Given the description of an element on the screen output the (x, y) to click on. 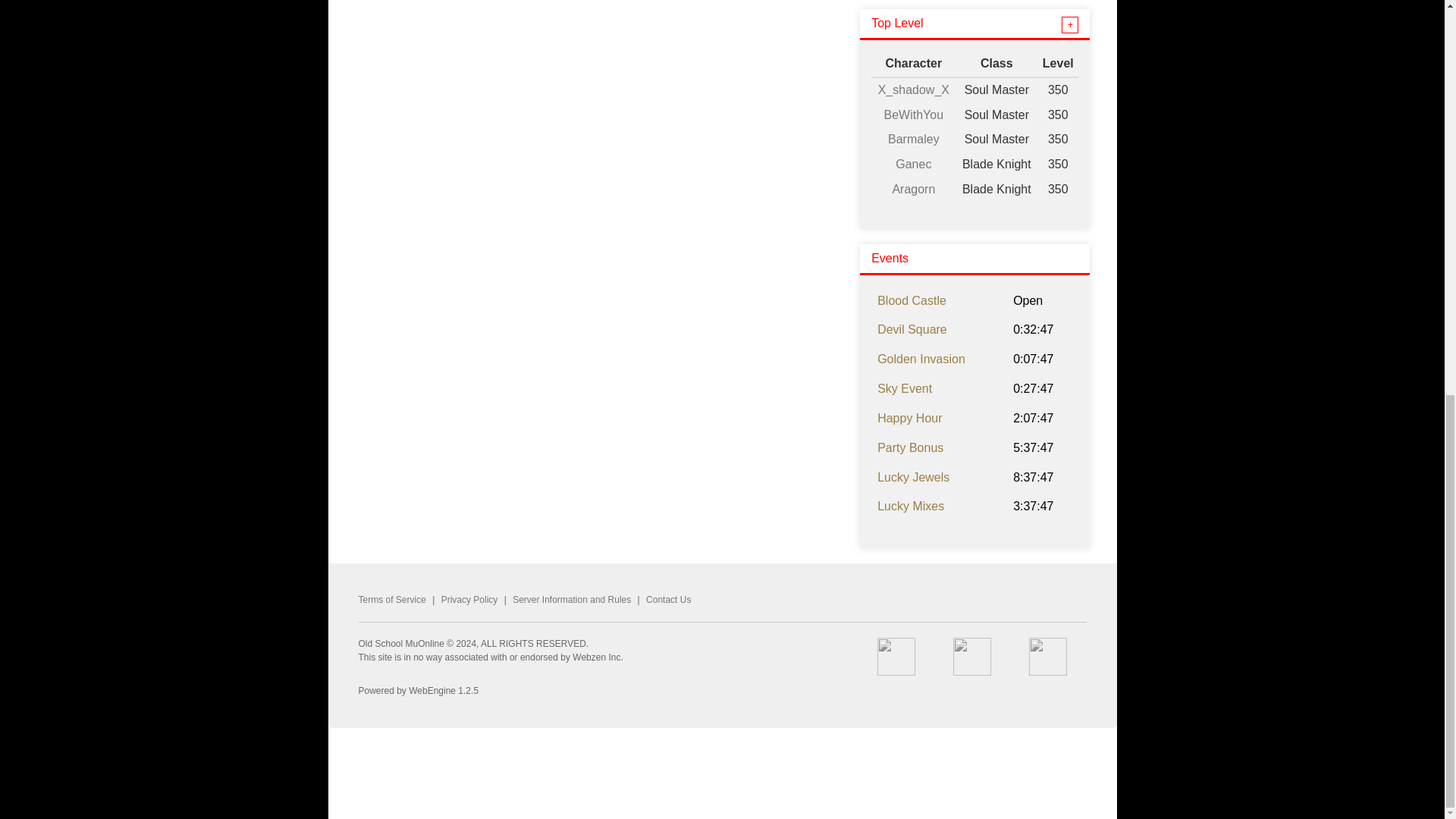
BeWithYou (913, 114)
Contact Us (668, 599)
Privacy Policy (469, 599)
Barmaley (913, 138)
Terms of Service (391, 599)
Aragorn (912, 188)
Ganec (913, 164)
Server Information and Rules (571, 599)
